Given the description of an element on the screen output the (x, y) to click on. 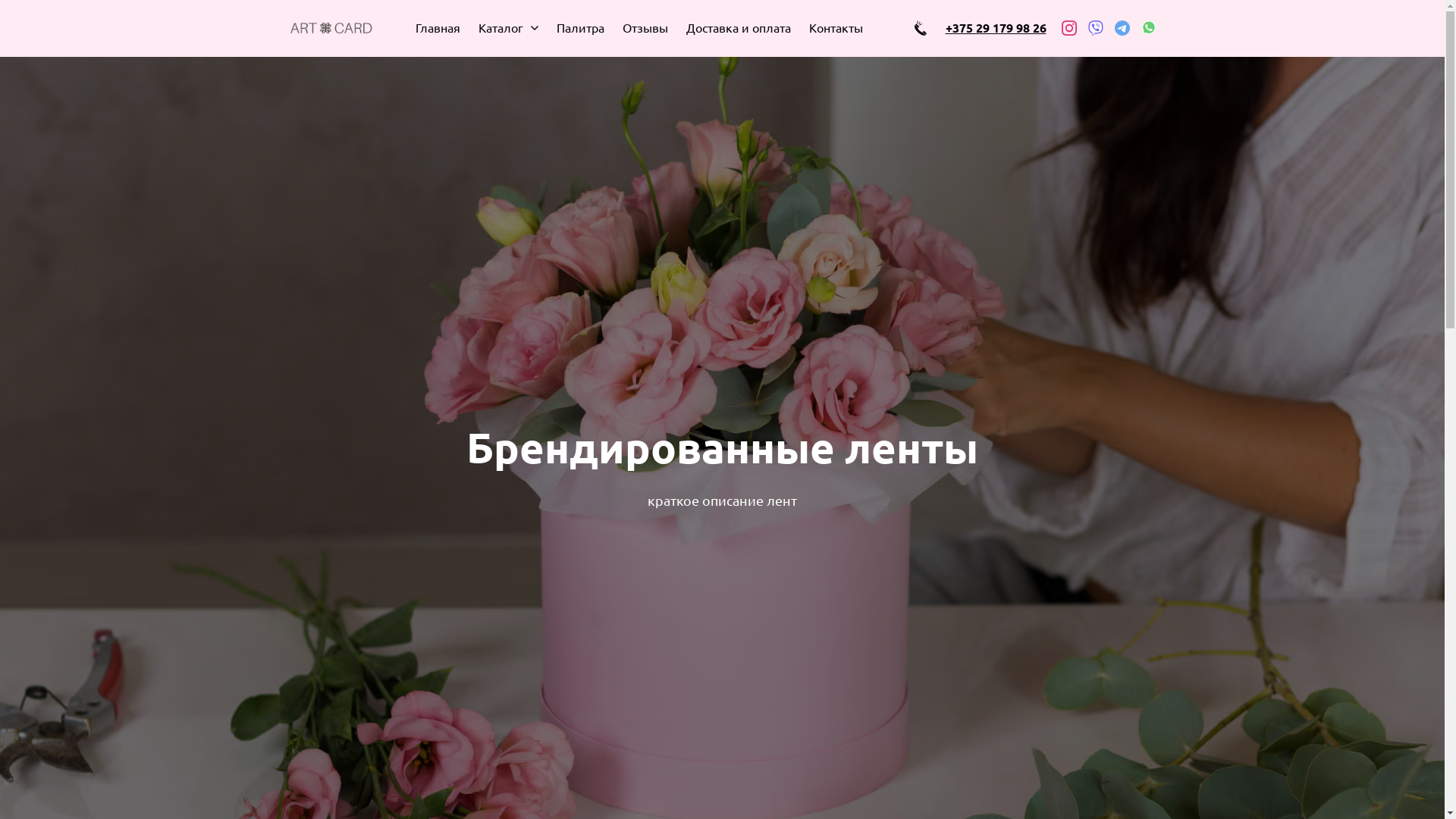
+375 29 179 98 26 Element type: text (994, 27)
